Given the description of an element on the screen output the (x, y) to click on. 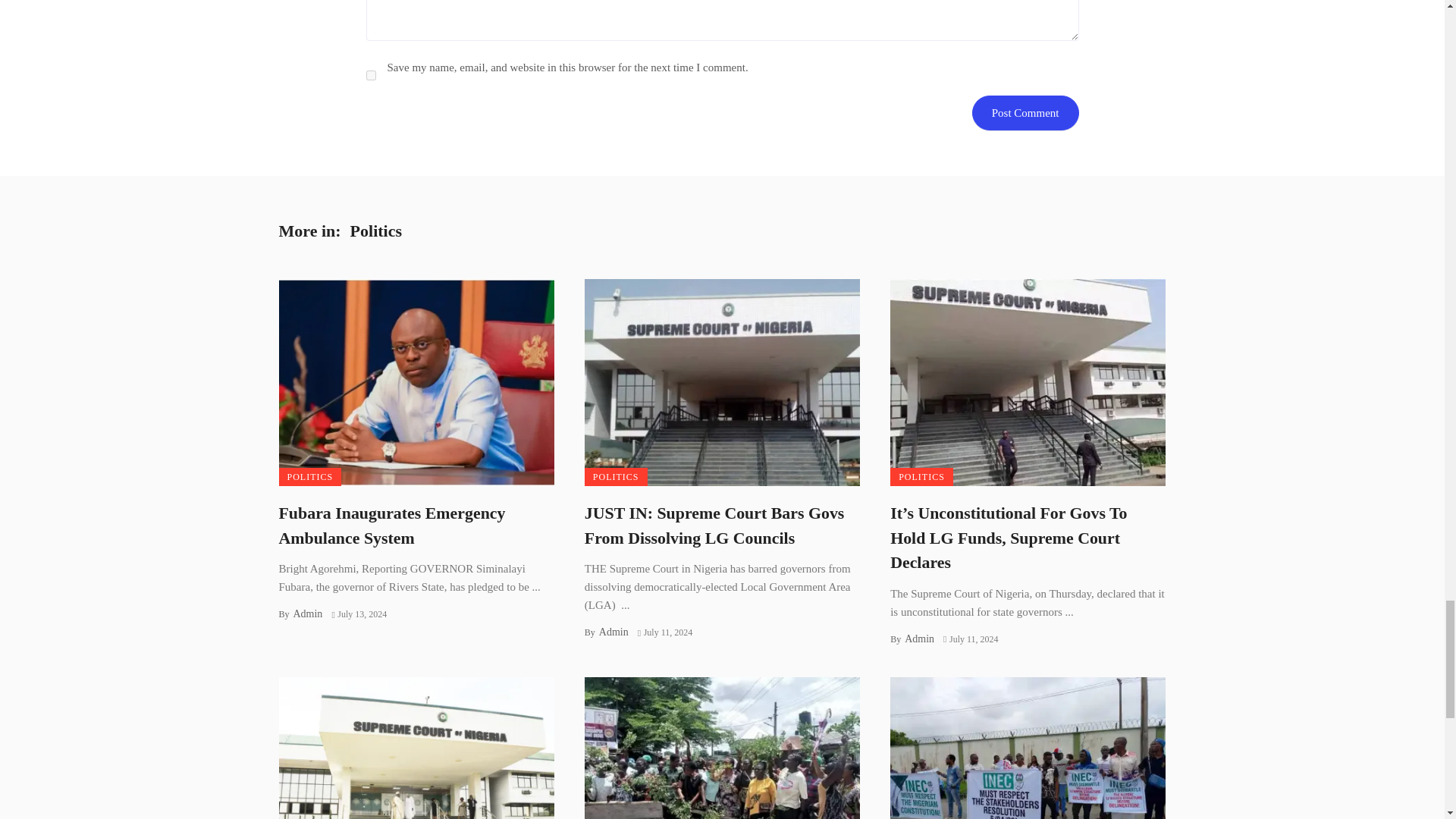
Post Comment (1025, 112)
